Given the description of an element on the screen output the (x, y) to click on. 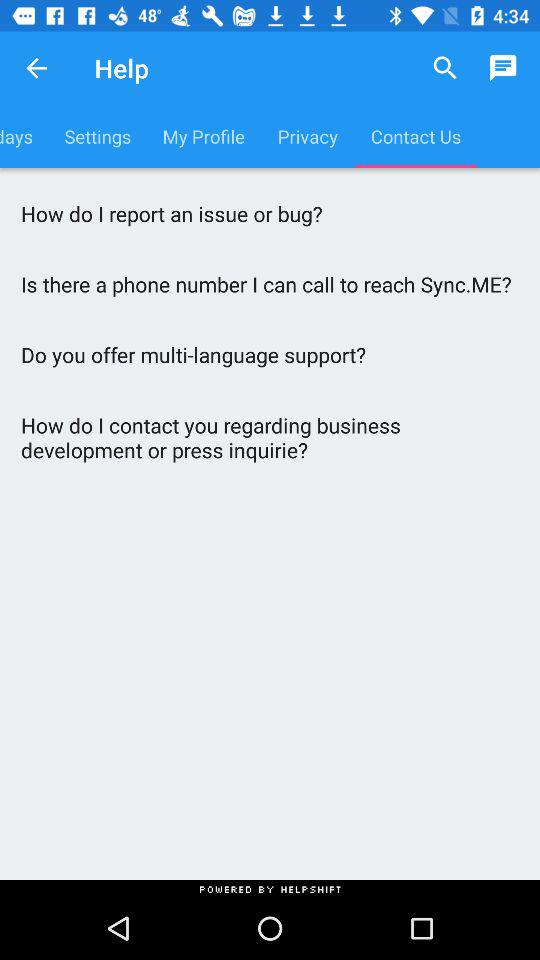
turn on item below the how do i icon (270, 284)
